Given the description of an element on the screen output the (x, y) to click on. 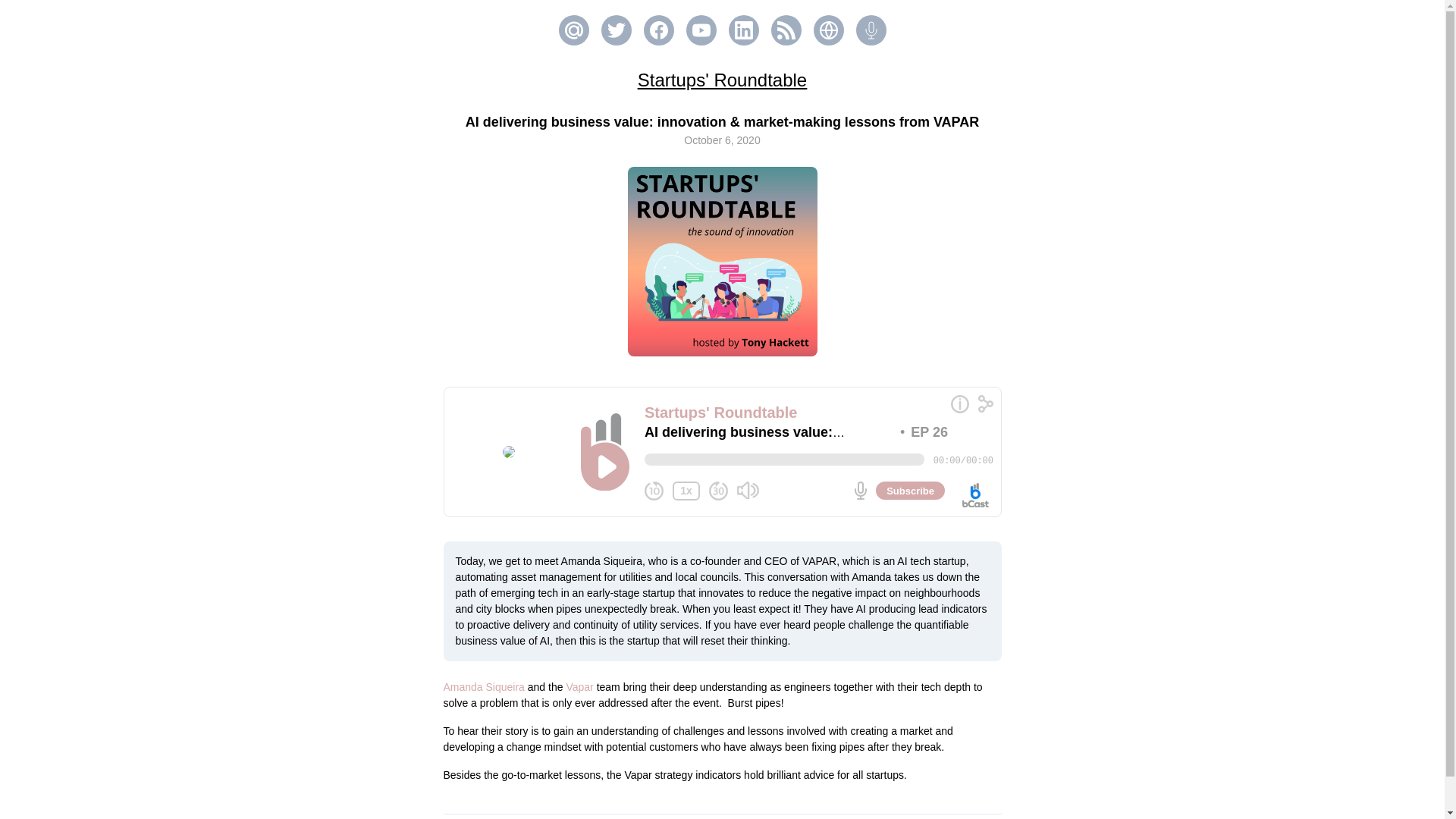
Vapar (580, 686)
Amanda Siqueira (483, 686)
Startups' Roundtable (721, 79)
